Given the description of an element on the screen output the (x, y) to click on. 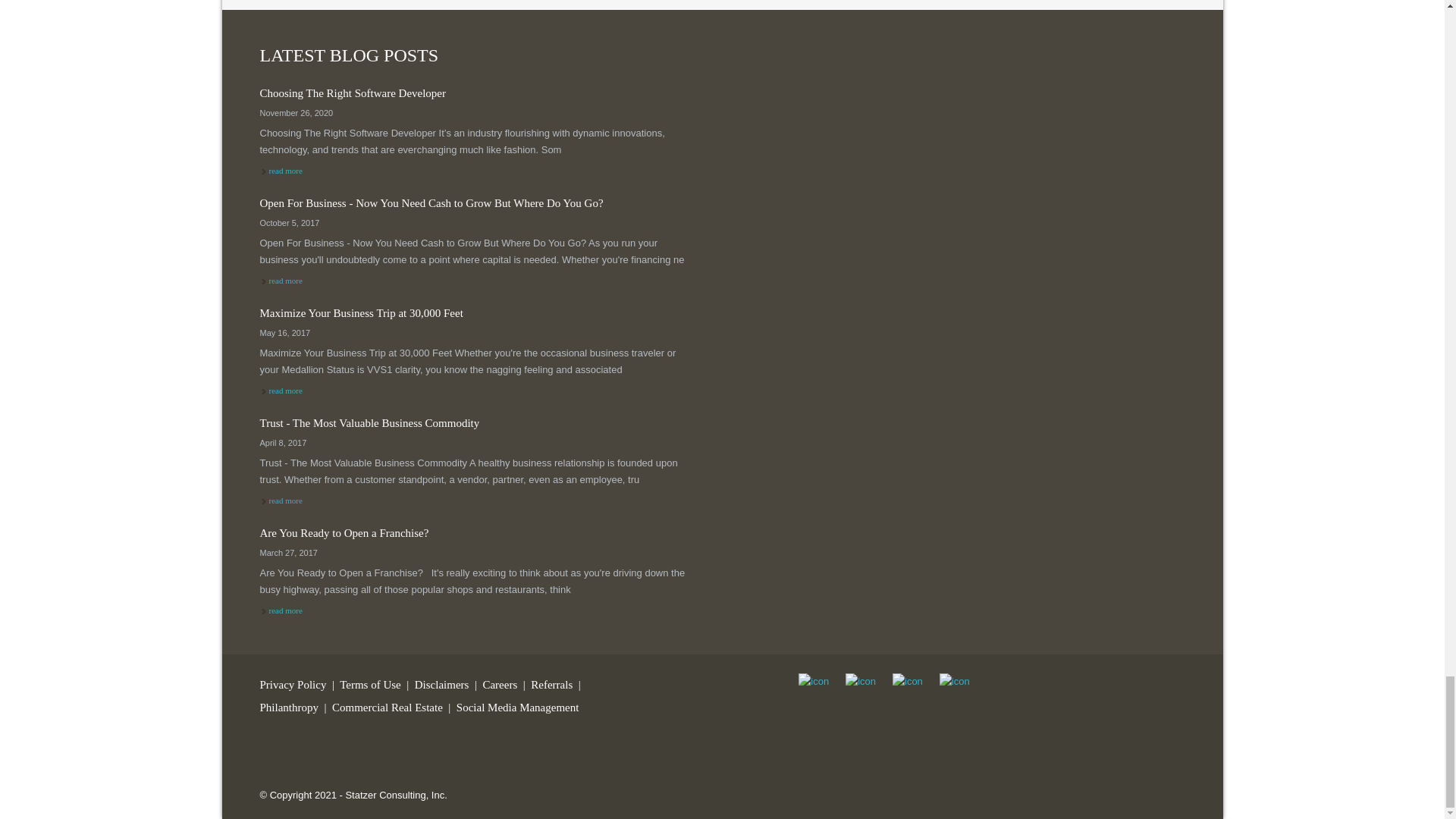
read more (284, 280)
Commercial Real Estate (386, 707)
Careers (498, 684)
read more (284, 610)
Social Media Management (480, 429)
read more (480, 320)
